Given the description of an element on the screen output the (x, y) to click on. 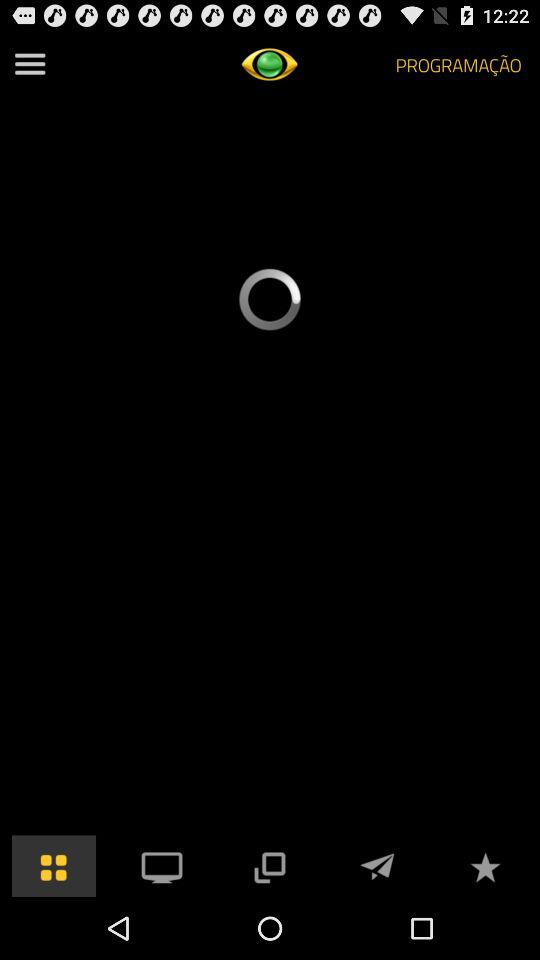
see all options (29, 64)
